Given the description of an element on the screen output the (x, y) to click on. 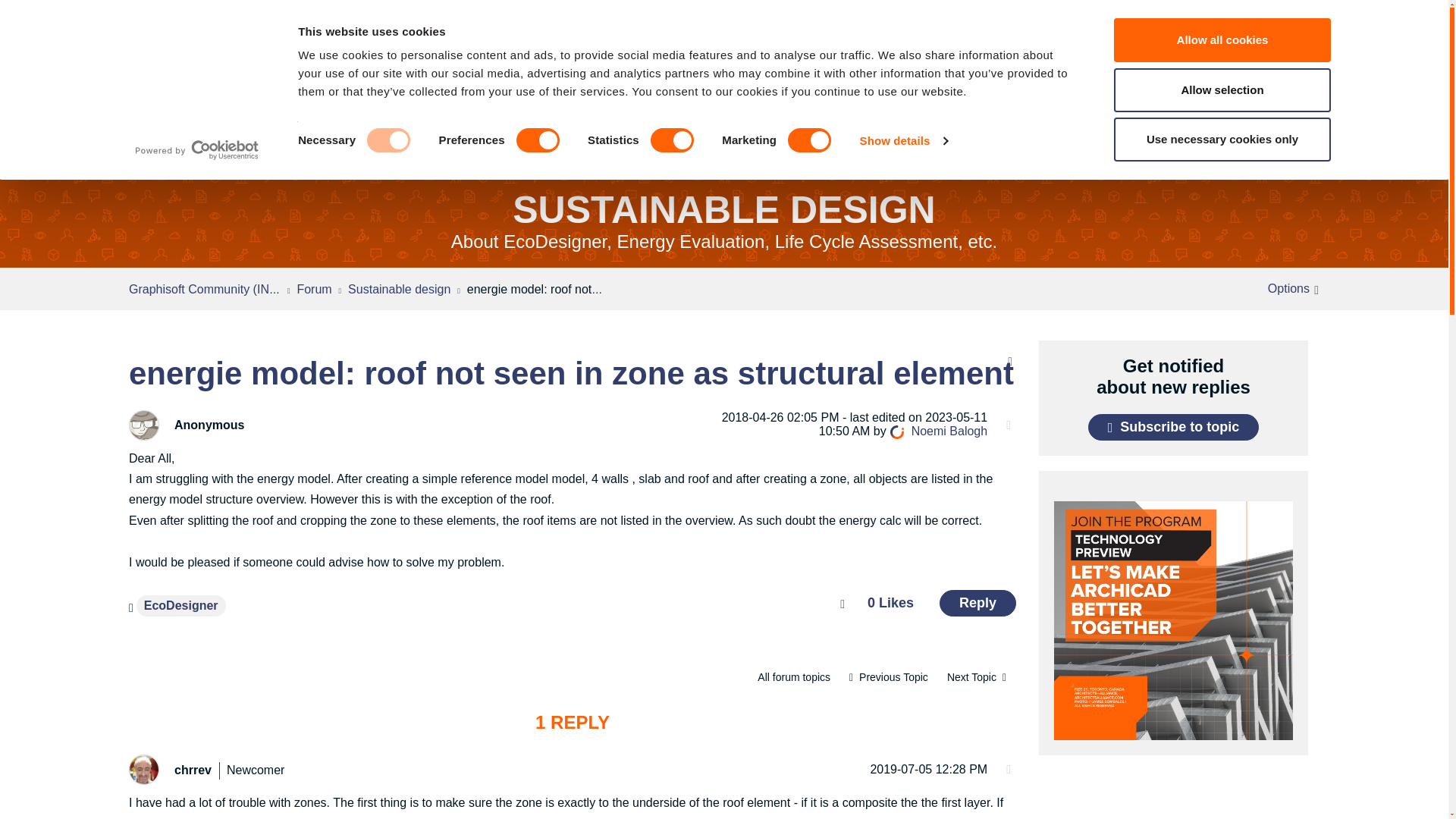
Search (167, 24)
Search (167, 24)
Show details (903, 140)
